Given the description of an element on the screen output the (x, y) to click on. 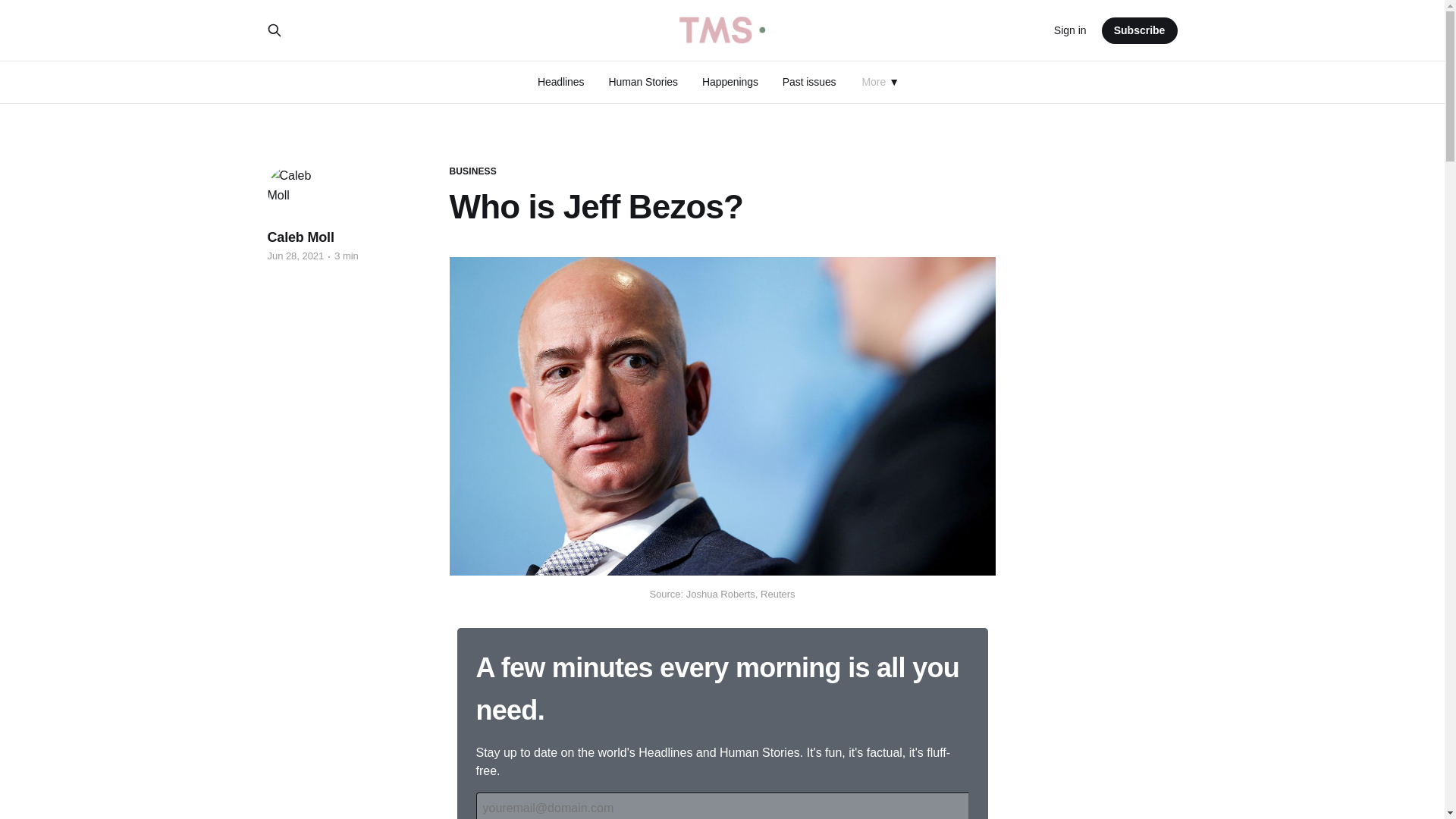
Past issues (809, 81)
Headlines (561, 81)
Happenings (729, 81)
Human Stories (643, 81)
